Given the description of an element on the screen output the (x, y) to click on. 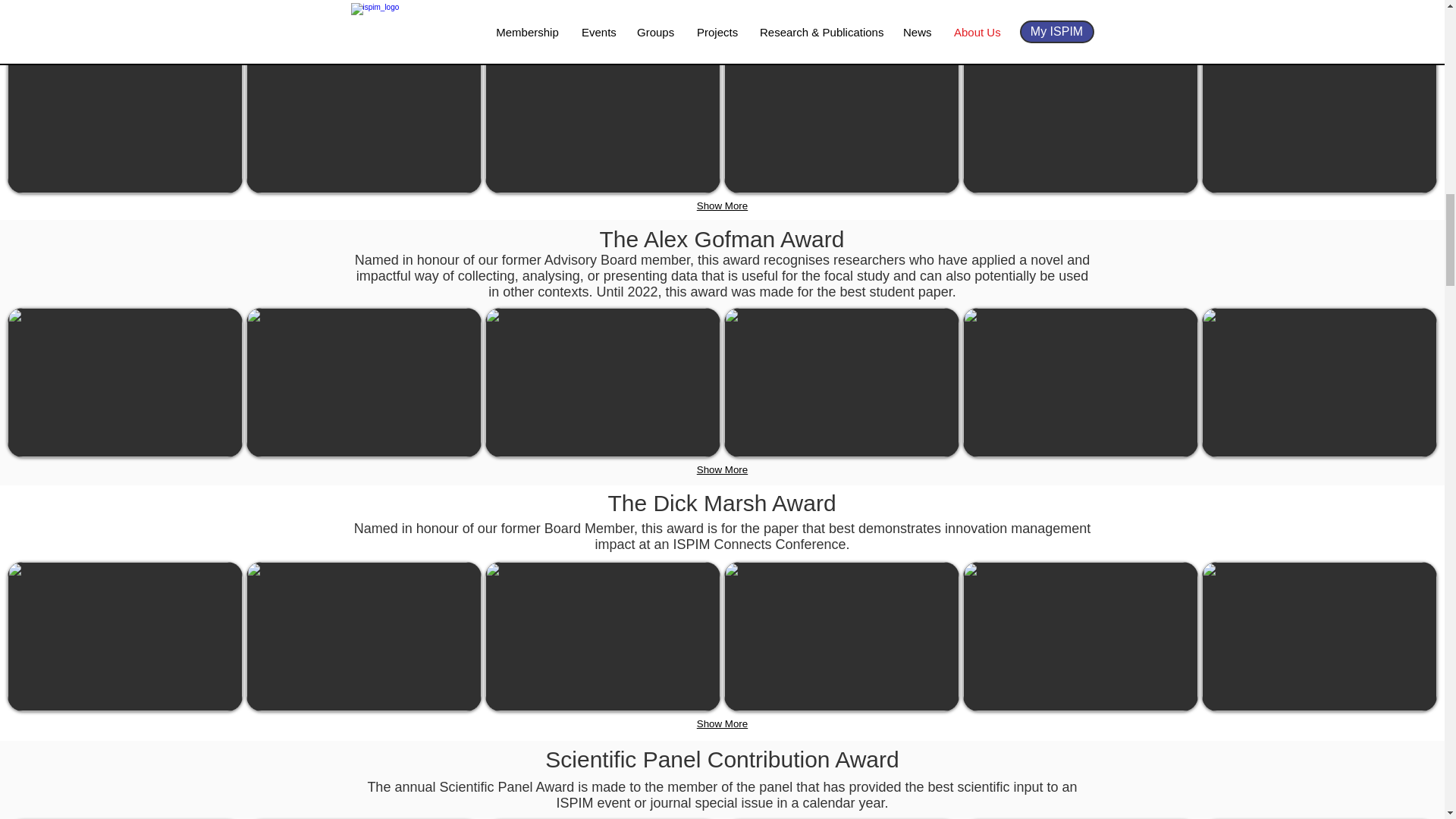
Show More (721, 470)
Show More (721, 724)
Show More (721, 206)
